Given the description of an element on the screen output the (x, y) to click on. 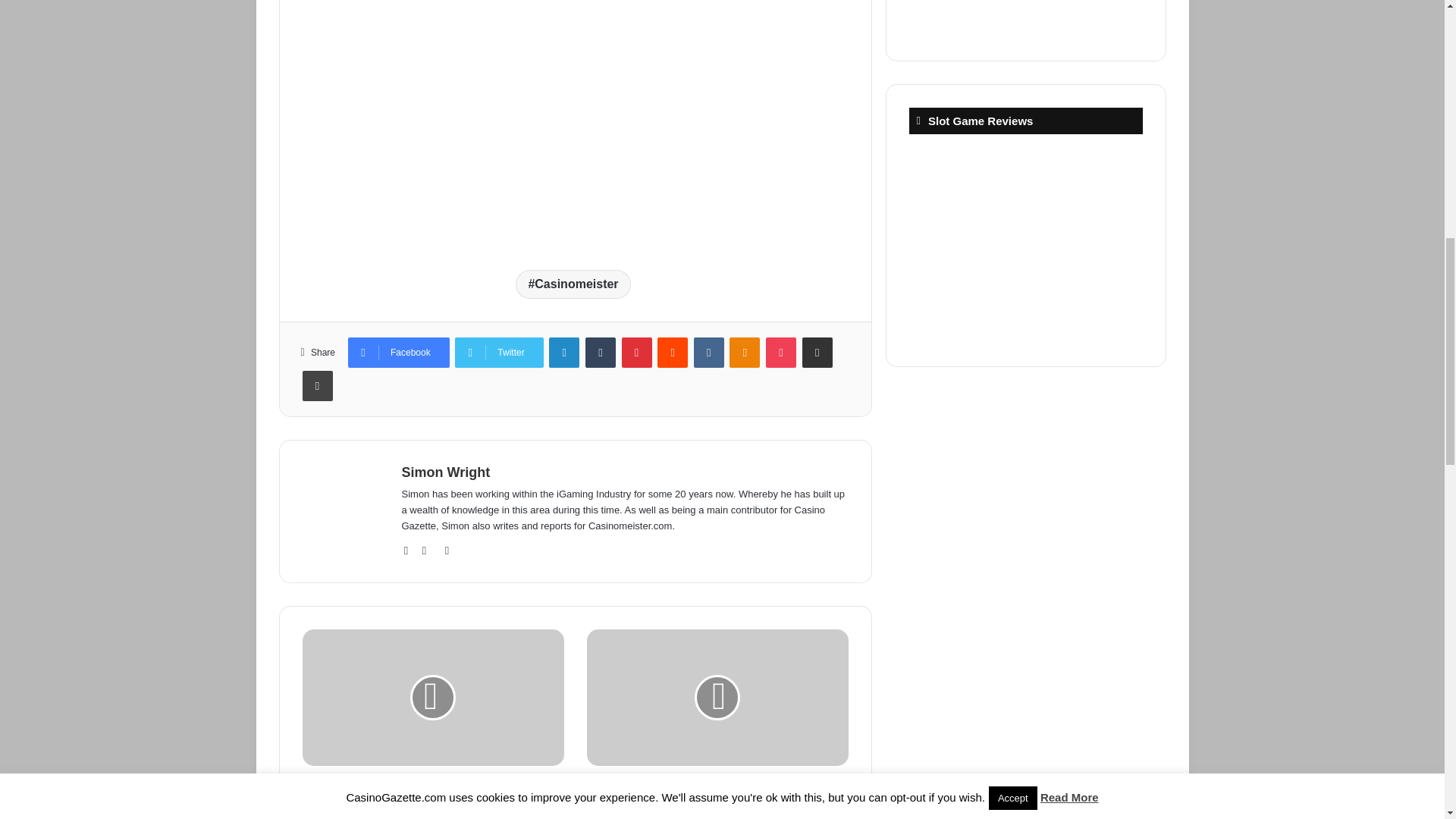
LinkedIn (563, 352)
Share via Email (817, 352)
VKontakte (708, 352)
Facebook (398, 352)
Twitter (498, 352)
Pinterest (636, 352)
Odnoklassniki (744, 352)
Odnoklassniki (744, 352)
VKontakte (708, 352)
Pinterest (636, 352)
Tumblr (600, 352)
LinkedIn (563, 352)
Reddit (672, 352)
Twitter (498, 352)
Reddit (672, 352)
